Given the description of an element on the screen output the (x, y) to click on. 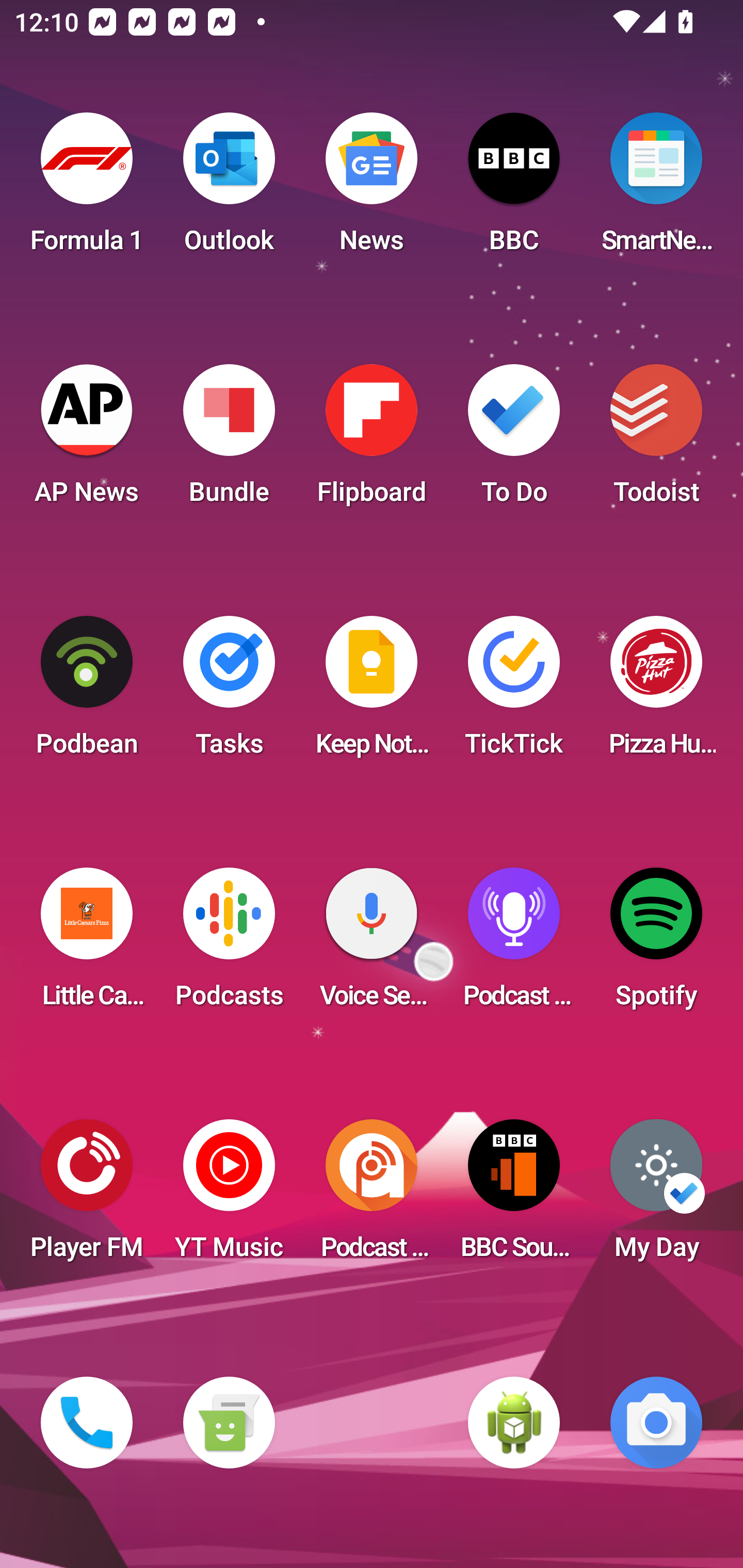
Formula 1 (86, 188)
Outlook (228, 188)
News (371, 188)
BBC (513, 188)
SmartNews (656, 188)
AP News (86, 440)
Bundle (228, 440)
Flipboard (371, 440)
To Do (513, 440)
Todoist (656, 440)
Podbean (86, 692)
Tasks (228, 692)
Keep Notes (371, 692)
TickTick (513, 692)
Pizza Hut HK & Macau (656, 692)
Little Caesars Pizza (86, 943)
Podcasts (228, 943)
Voice Search (371, 943)
Podcast Player (513, 943)
Spotify (656, 943)
Player FM (86, 1195)
YT Music (228, 1195)
Podcast Addict (371, 1195)
BBC Sounds (513, 1195)
My Day (656, 1195)
Phone (86, 1422)
Messaging (228, 1422)
WebView Browser Tester (513, 1422)
Camera (656, 1422)
